Given the description of an element on the screen output the (x, y) to click on. 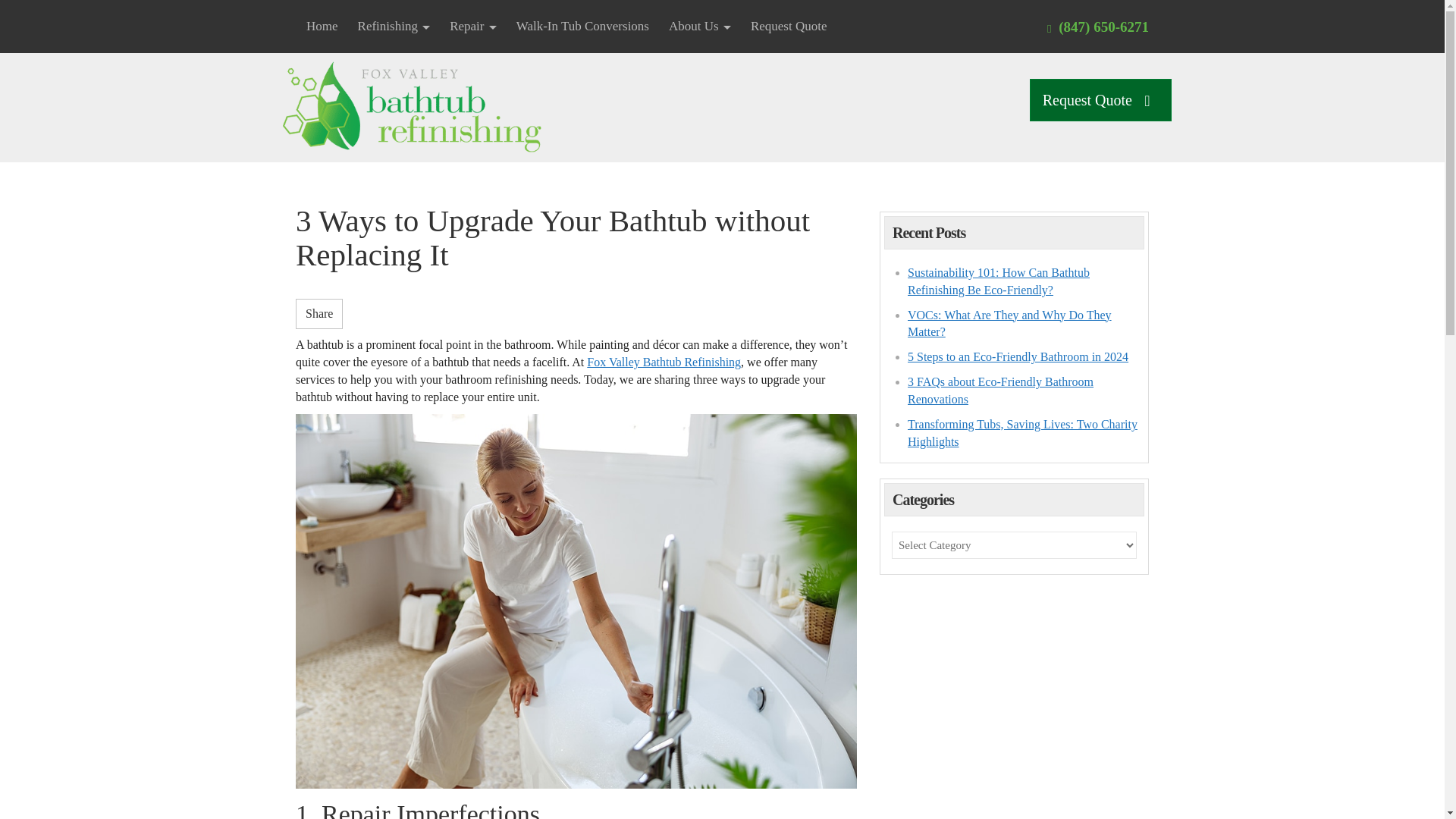
Request Quote (789, 26)
Walk-In Tub Conversions (582, 26)
Refinishing (394, 26)
About Us (700, 26)
Home (322, 26)
Repair (472, 26)
